Given the description of an element on the screen output the (x, y) to click on. 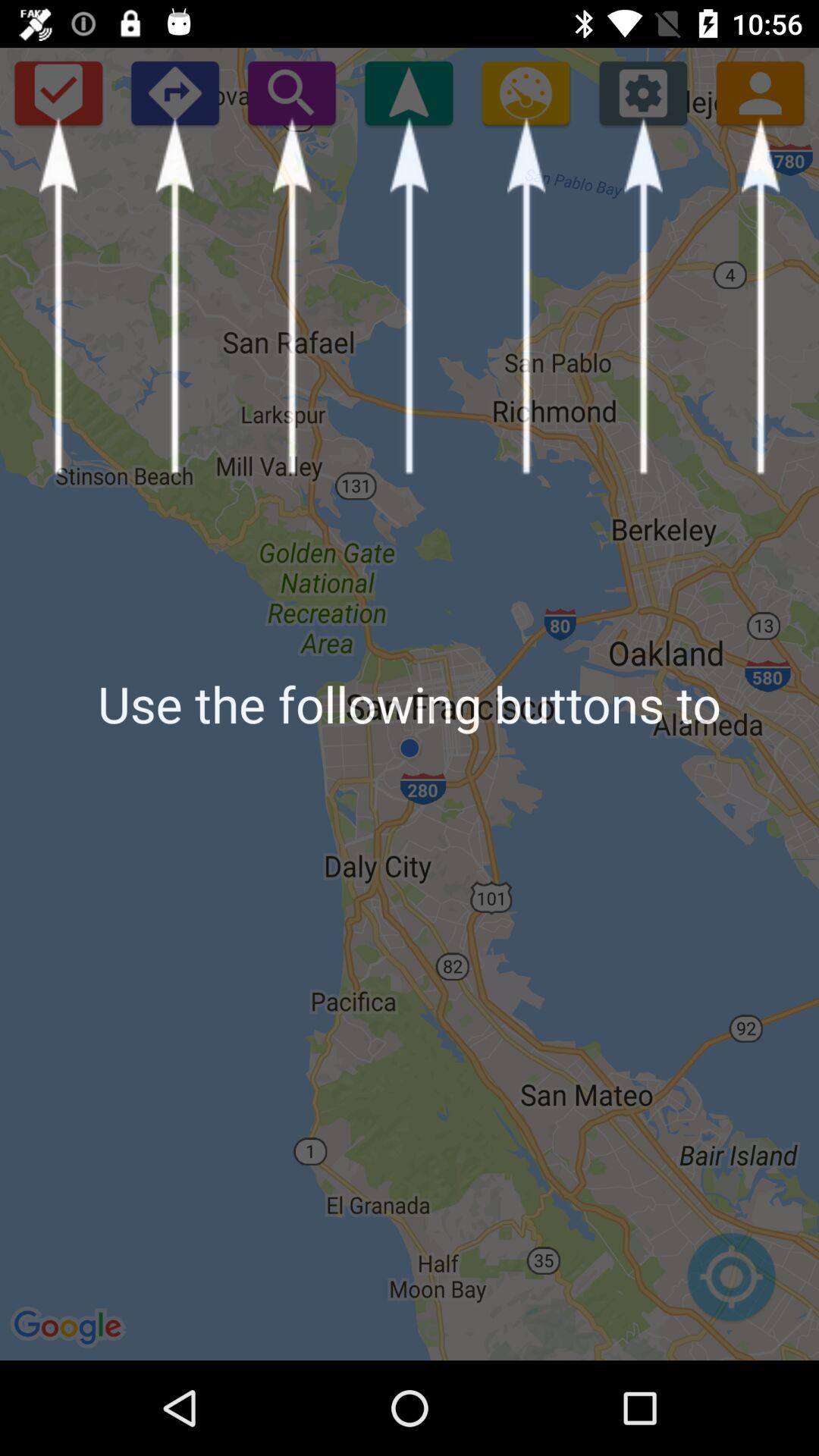
open contacts (760, 92)
